Given the description of an element on the screen output the (x, y) to click on. 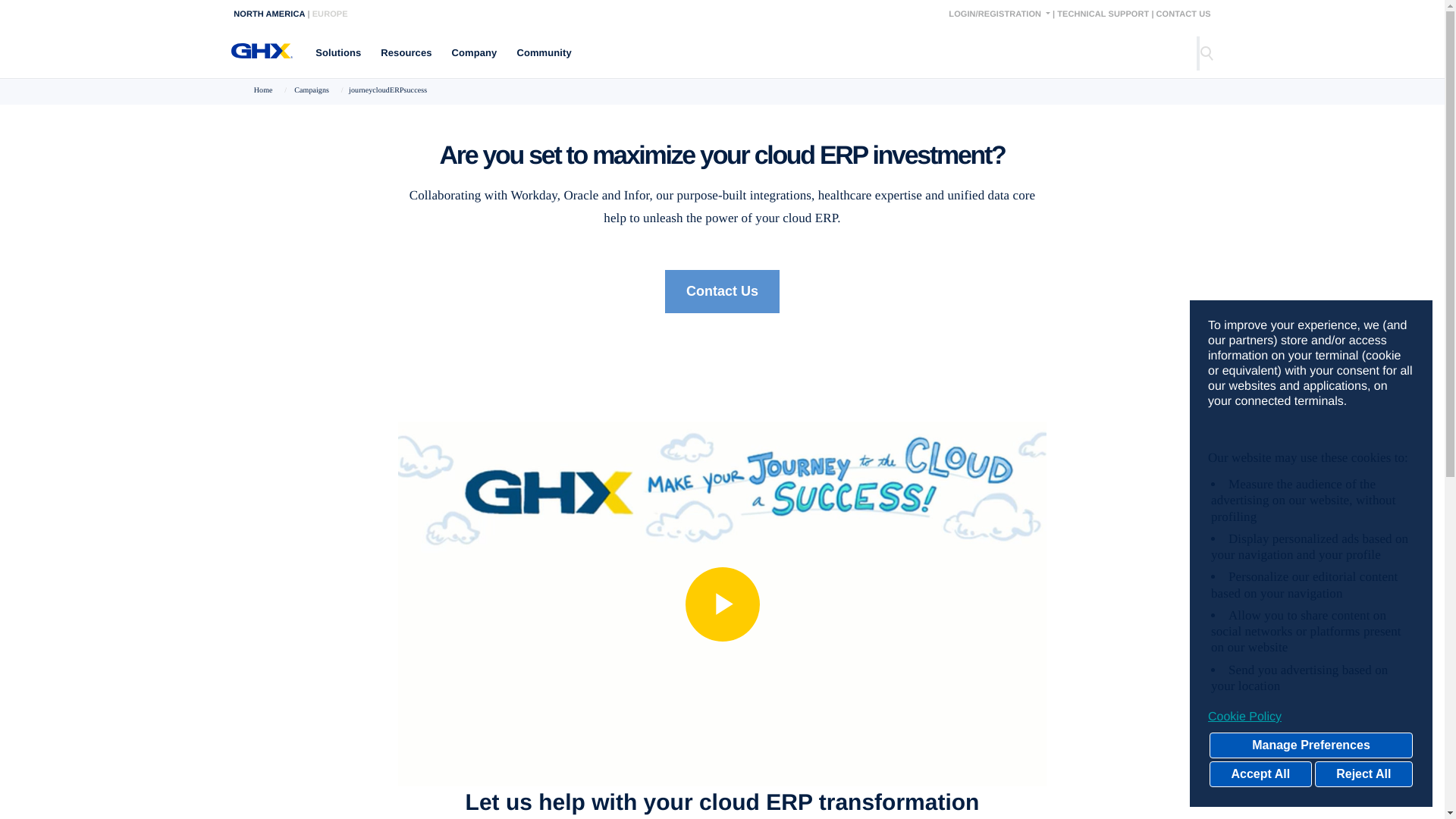
EUROPE (330, 13)
Accept All (1260, 774)
TECHNICAL SUPPORT (1102, 13)
Cookie Policy (1310, 717)
NORTH AMERICA (268, 13)
Reject All (1363, 774)
CONTACT US (1183, 13)
Manage Preferences (1310, 745)
